Given the description of an element on the screen output the (x, y) to click on. 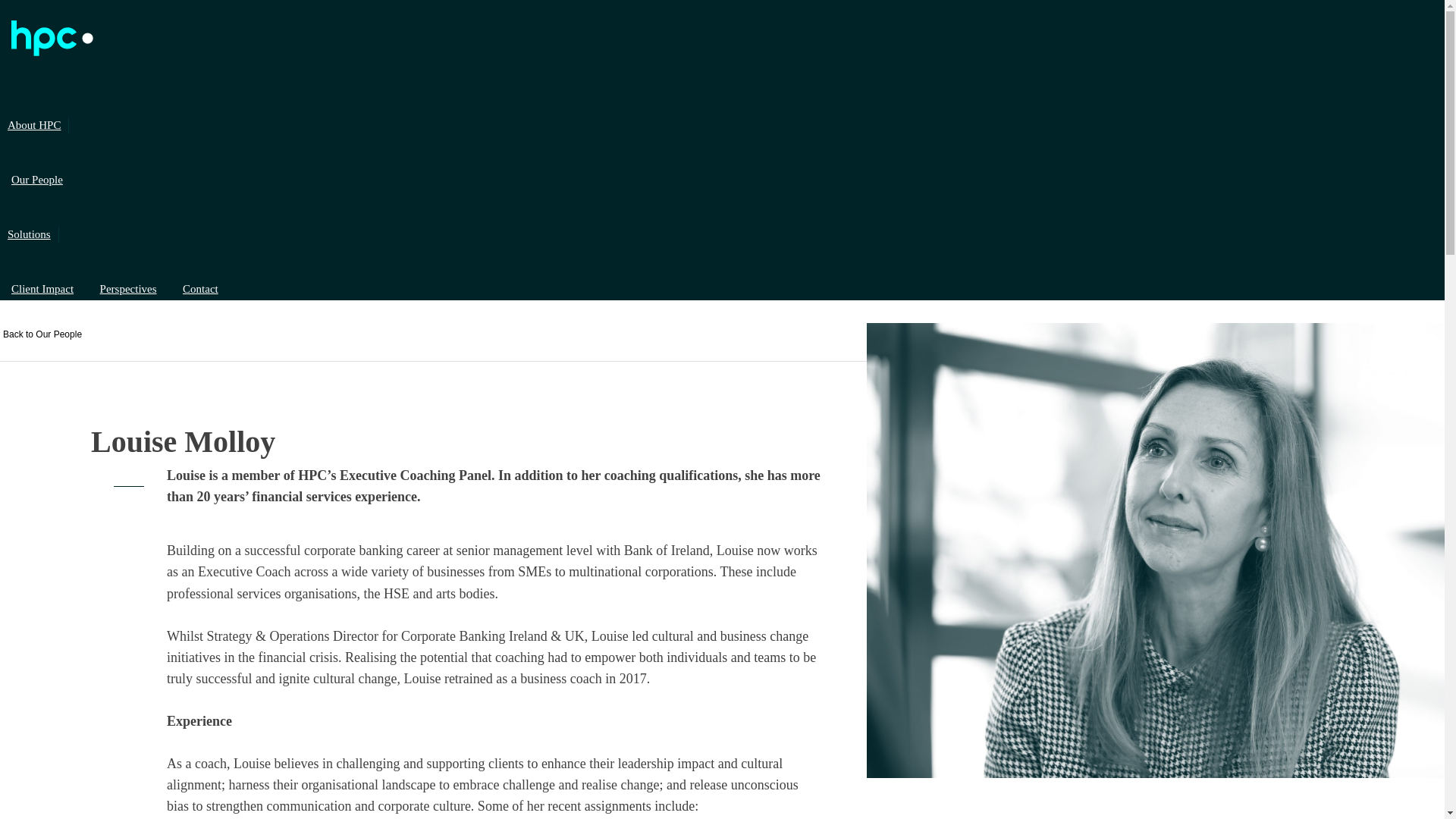
About HPC (34, 125)
Client Impact (42, 288)
Perspectives (128, 288)
Solutions (29, 234)
Our People (36, 179)
Back to Our People (40, 334)
Contact (200, 288)
